Given the description of an element on the screen output the (x, y) to click on. 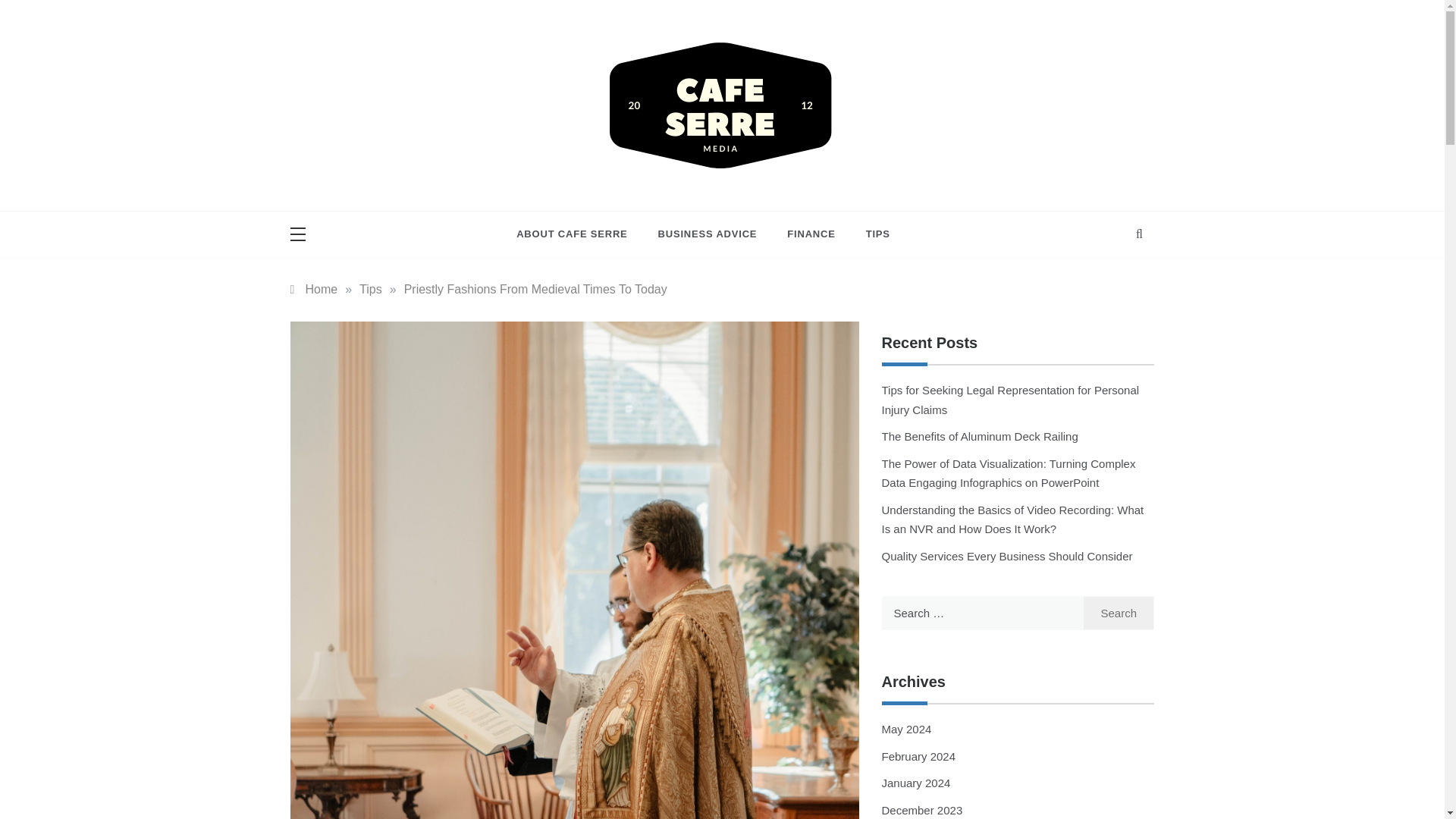
Search (1118, 612)
Home (313, 288)
BUSINESS ADVICE (708, 234)
FINANCE (810, 234)
ABOUT CAFE SERRE (579, 234)
Cafe Serre (548, 196)
Priestly Fashions From Medieval Times To Today (535, 288)
Tips (370, 288)
Search (1118, 612)
